Given the description of an element on the screen output the (x, y) to click on. 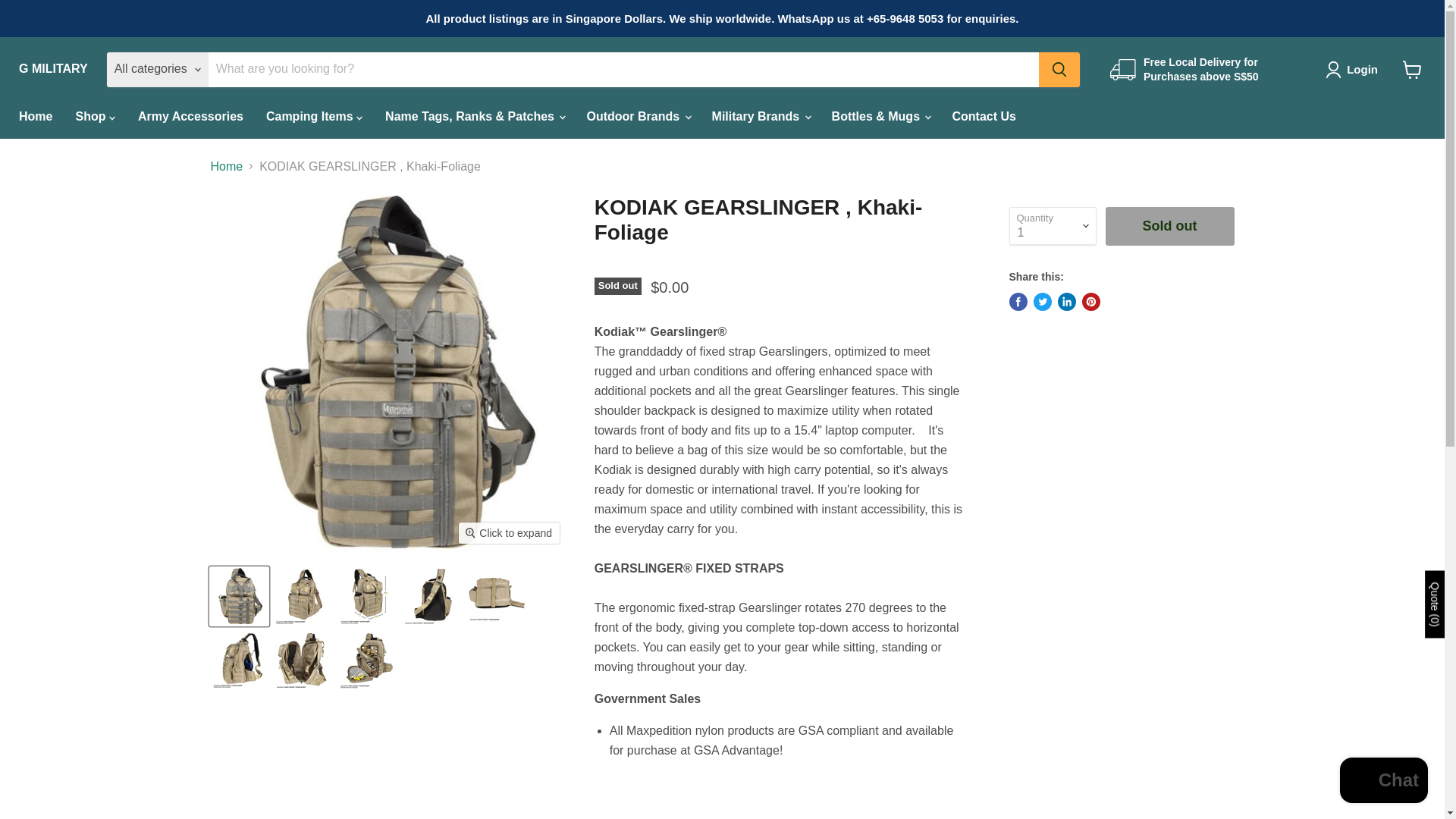
Shopify online store chat (1383, 781)
View cart (1411, 69)
G MILITARY (52, 69)
Login (1362, 69)
Shop (94, 115)
Home (35, 115)
